Given the description of an element on the screen output the (x, y) to click on. 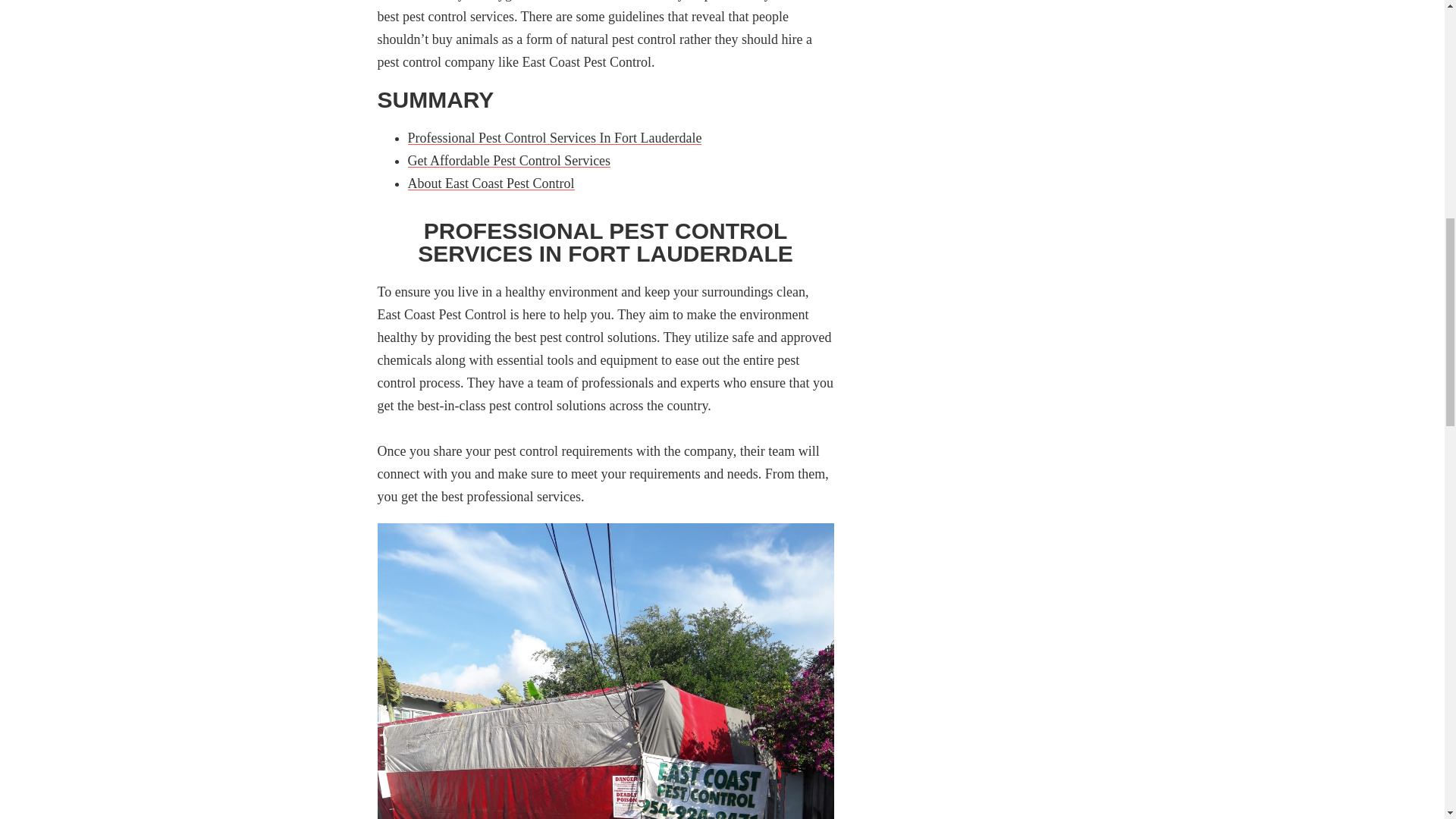
About East Coast Pest Control (491, 183)
Professional Pest Control Services In Fort Lauderdale (554, 137)
Get Affordable Pest Control Services (509, 160)
